Given the description of an element on the screen output the (x, y) to click on. 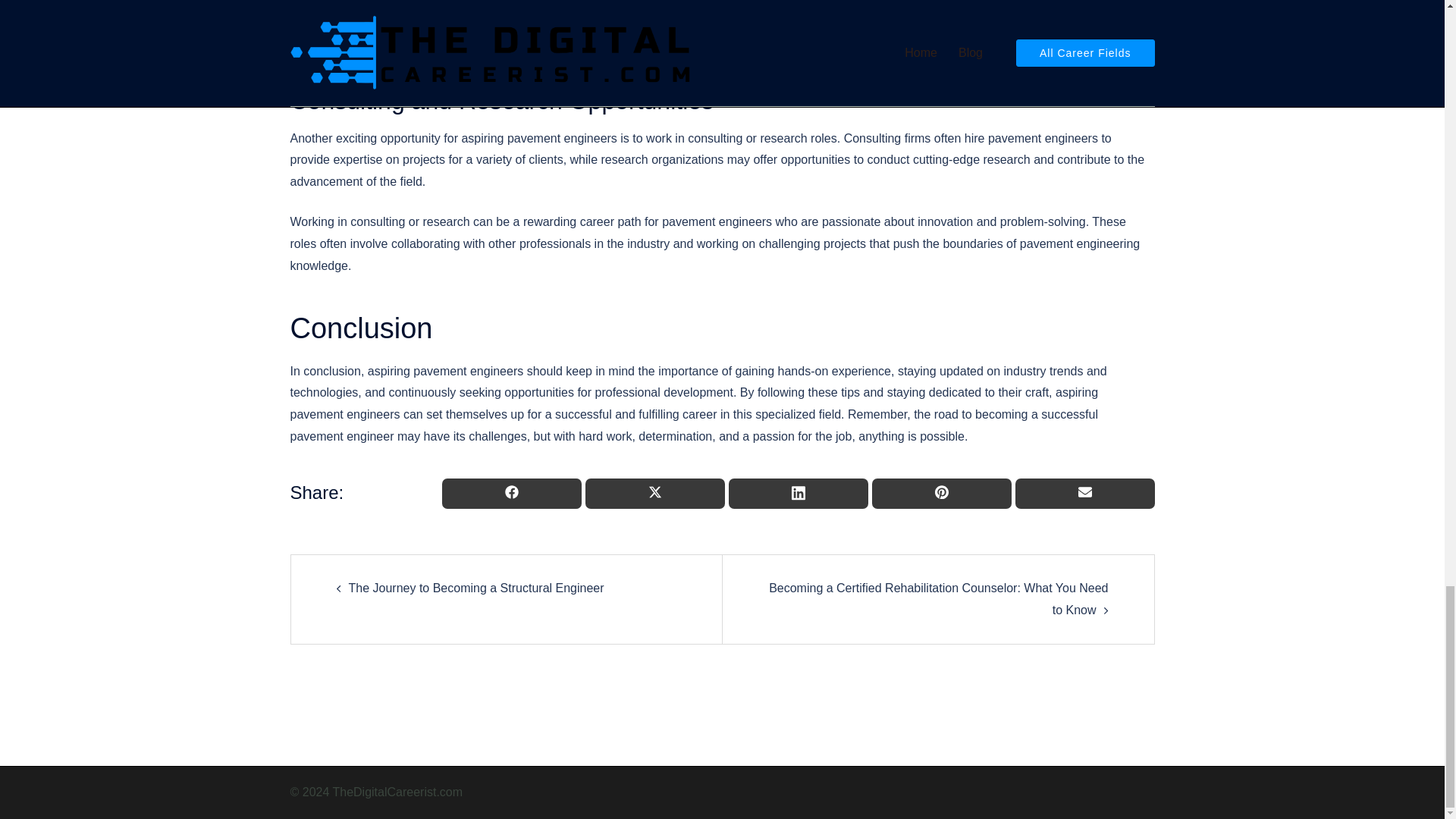
The Journey to Becoming a Structural Engineer (476, 587)
